Given the description of an element on the screen output the (x, y) to click on. 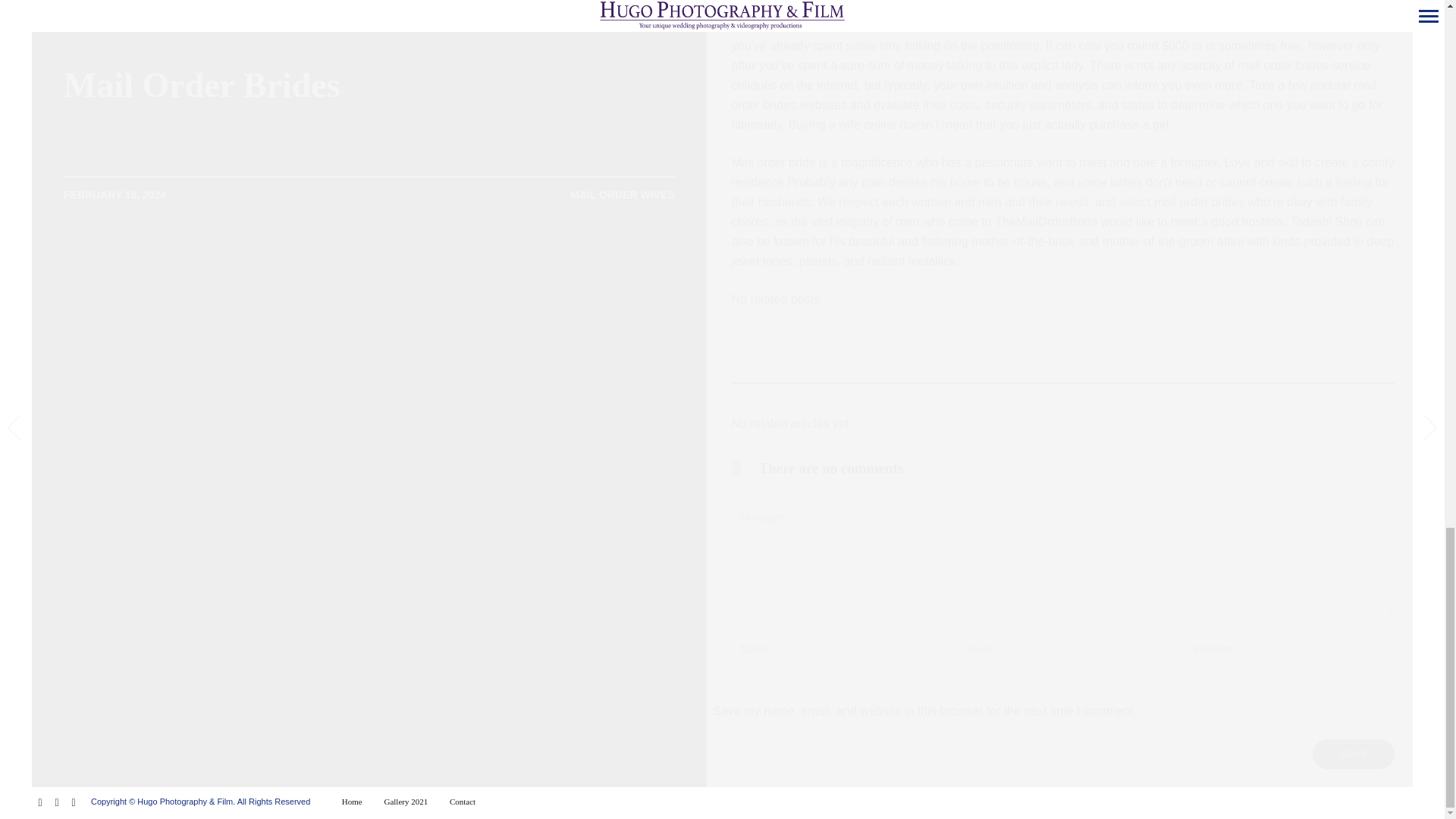
yes (717, 690)
Send (1353, 754)
Send (1353, 754)
